Given the description of an element on the screen output the (x, y) to click on. 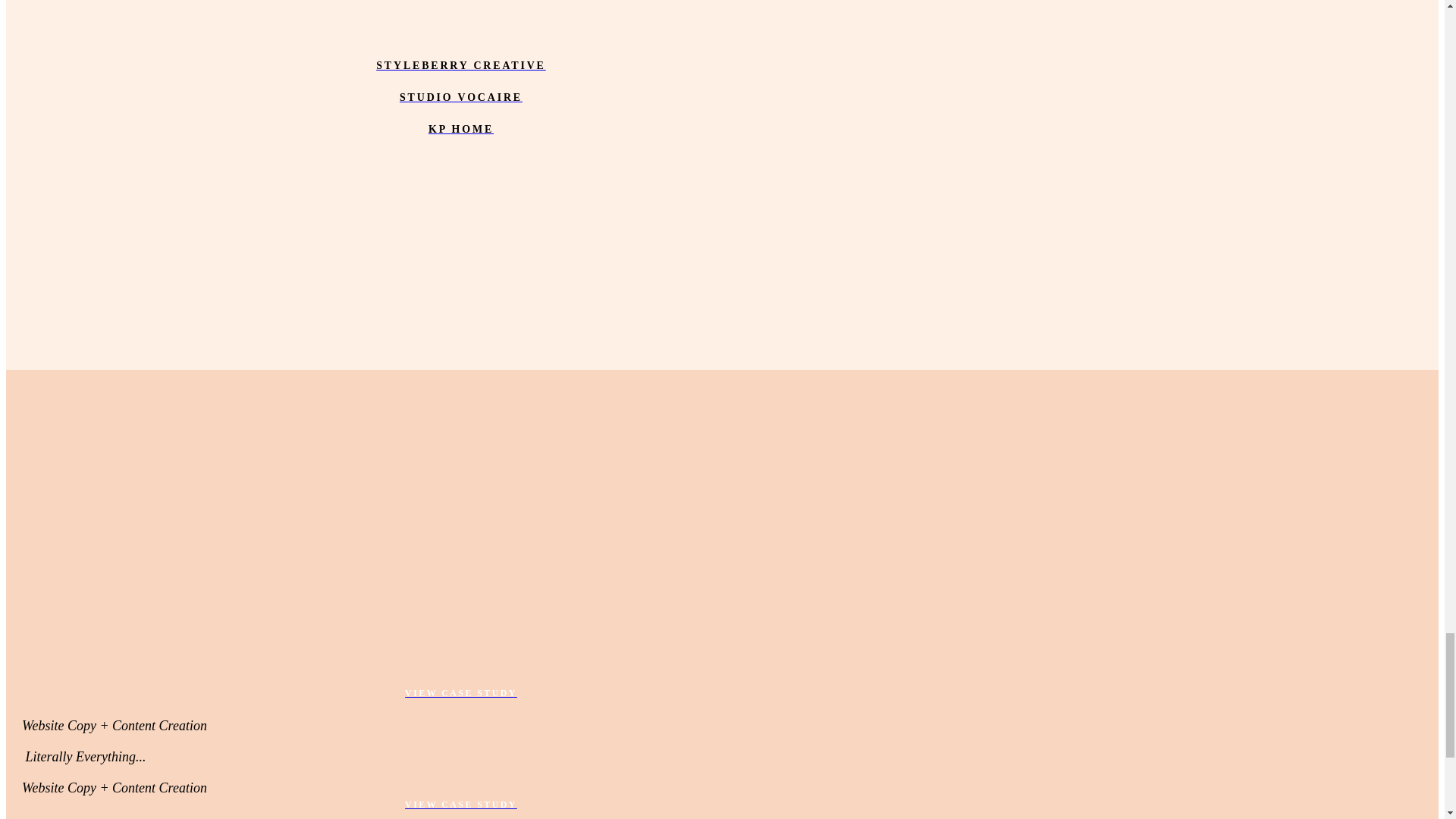
STUDIO VOCAIRE (460, 97)
KP HOME (460, 129)
STYLEBERRY CREATIVE (460, 65)
VIEW CASE STUDY (460, 692)
VIEW CASE STUDY (460, 804)
